Given the description of an element on the screen output the (x, y) to click on. 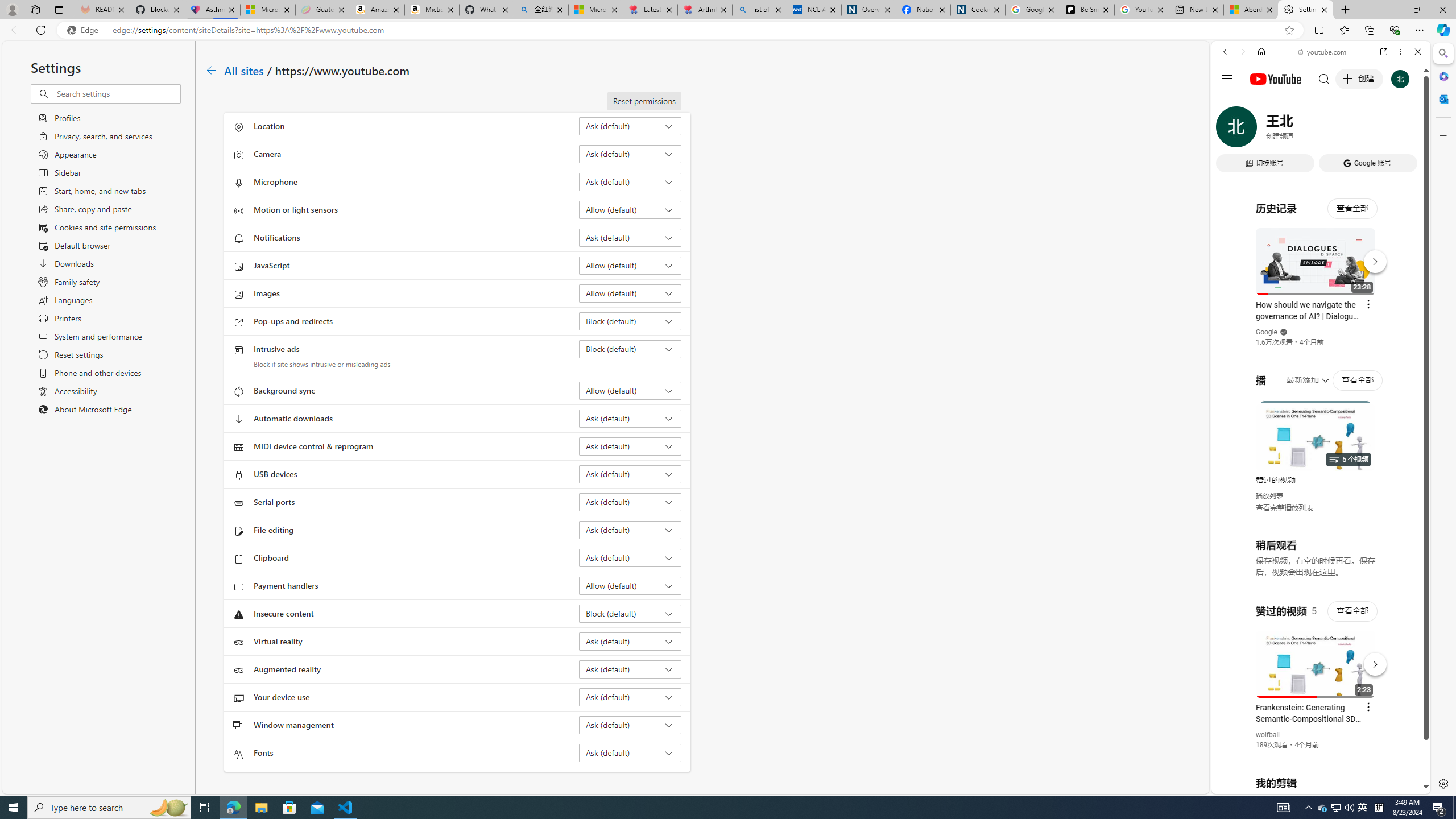
Show More Music (1390, 310)
Motion or light sensors Allow (default) (630, 209)
you (1315, 755)
US[ju] (1249, 785)
Insecure content Block (default) (630, 613)
Click to scroll right (1407, 456)
Background sync Allow (default) (630, 390)
Search Filter, WEB (1230, 129)
